Given the description of an element on the screen output the (x, y) to click on. 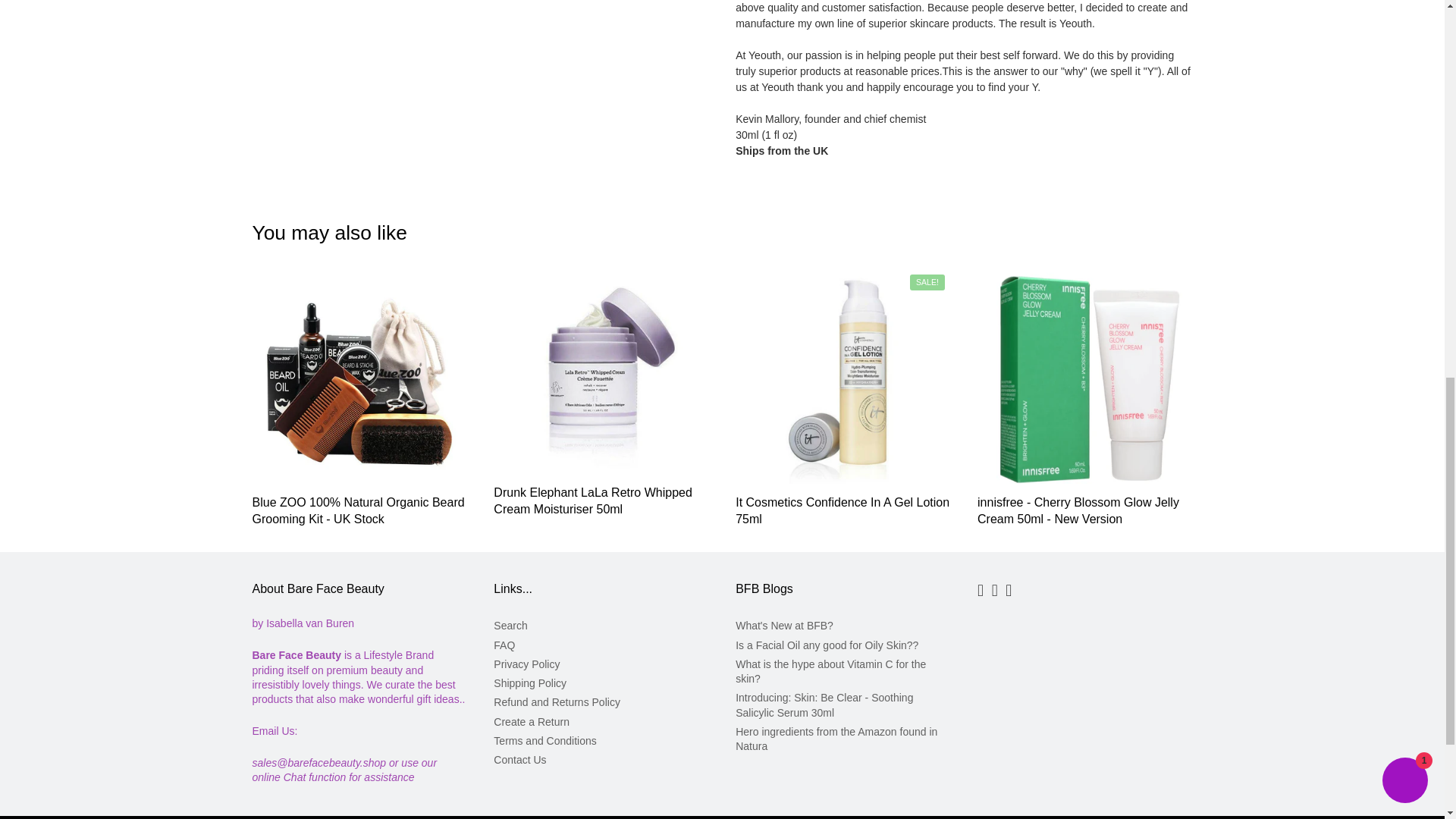
Drunk Elephant LaLa Retro Whipped Cream Moisturiser 50ml (593, 500)
It Cosmetics Confidence In A Gel Lotion 75ml (842, 510)
